Given the description of an element on the screen output the (x, y) to click on. 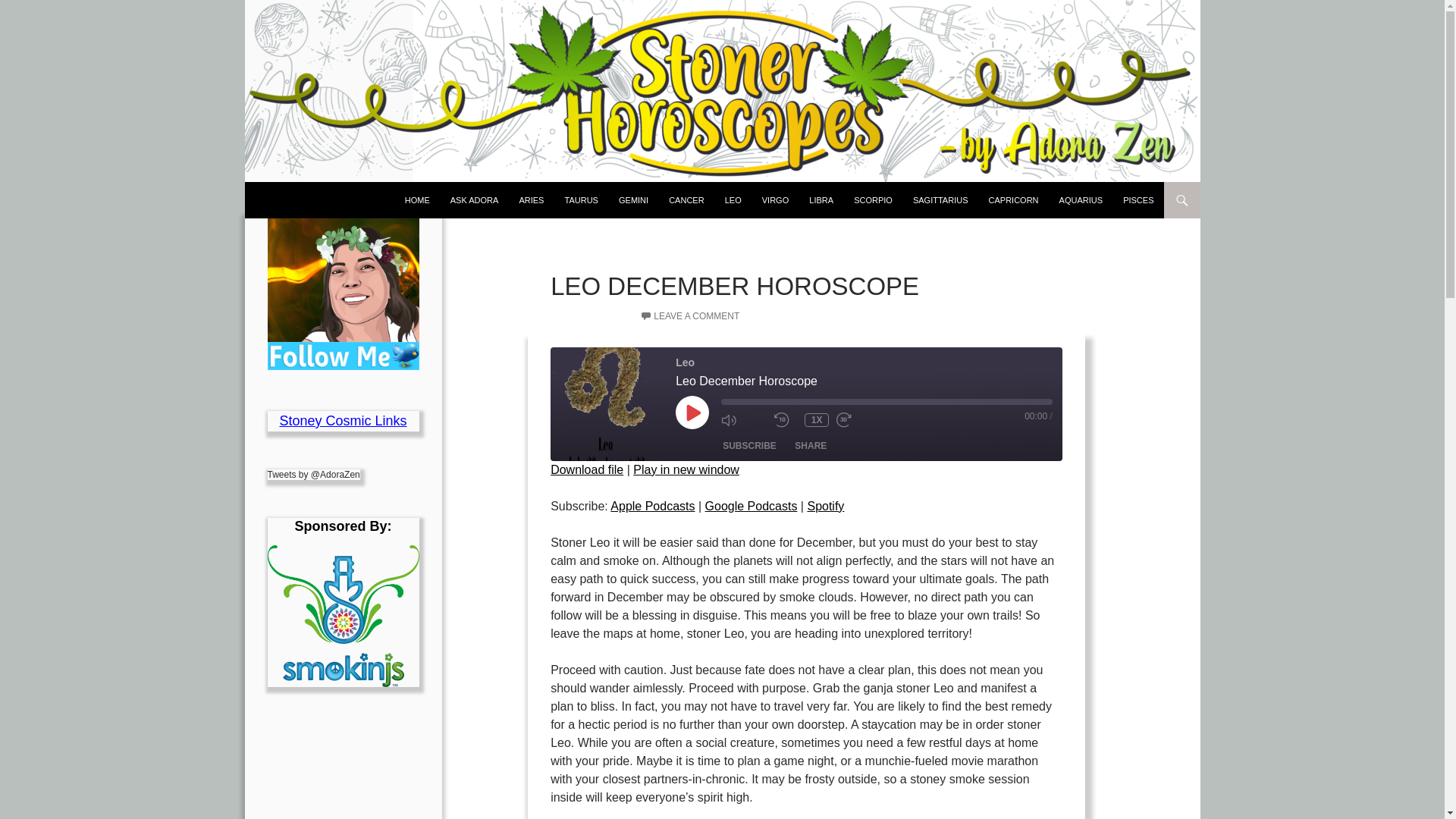
SHARE (810, 445)
SCORPIO (872, 199)
1X (816, 419)
Rewind 10 seconds (785, 419)
Leo (606, 404)
FAST FORWARD 30 SECONDS (858, 419)
Fast Forward 30 seconds (858, 419)
SUBSCRIBE (749, 445)
VIRGO (774, 199)
Seek (886, 401)
CANCER (686, 199)
Play (692, 412)
PLAY EPISODE (692, 412)
AQUARIUS (1080, 199)
